Given the description of an element on the screen output the (x, y) to click on. 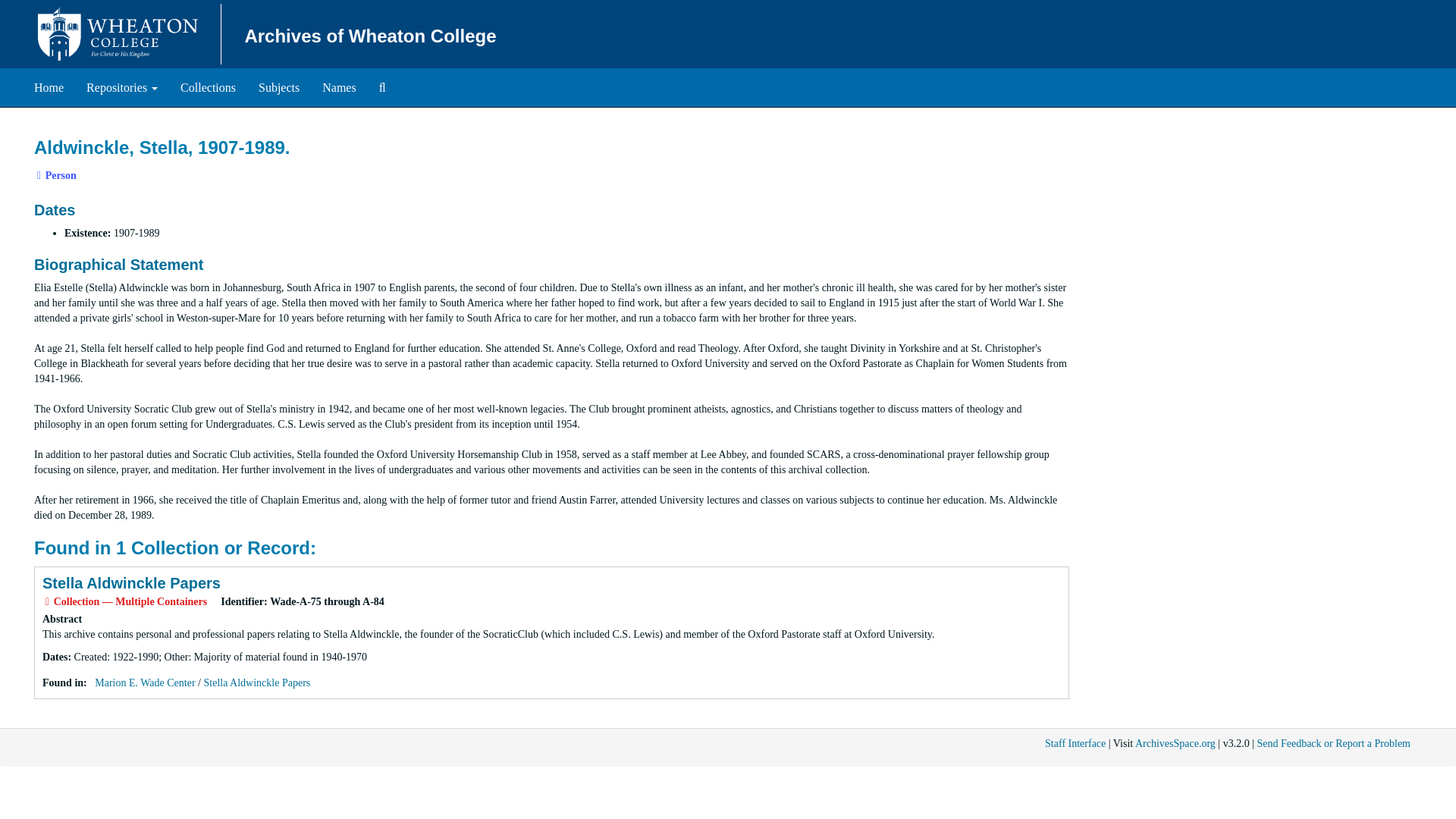
Archives of Wheaton College (370, 35)
translation missing: en.dates (54, 656)
Staff Interface (1075, 743)
Stella Aldwinckle Papers (256, 682)
Collections (207, 87)
Page Actions (1139, 130)
Marion E. Wade Center (144, 682)
Names (49, 87)
Stella Aldwinckle Papers (338, 87)
